Given the description of an element on the screen output the (x, y) to click on. 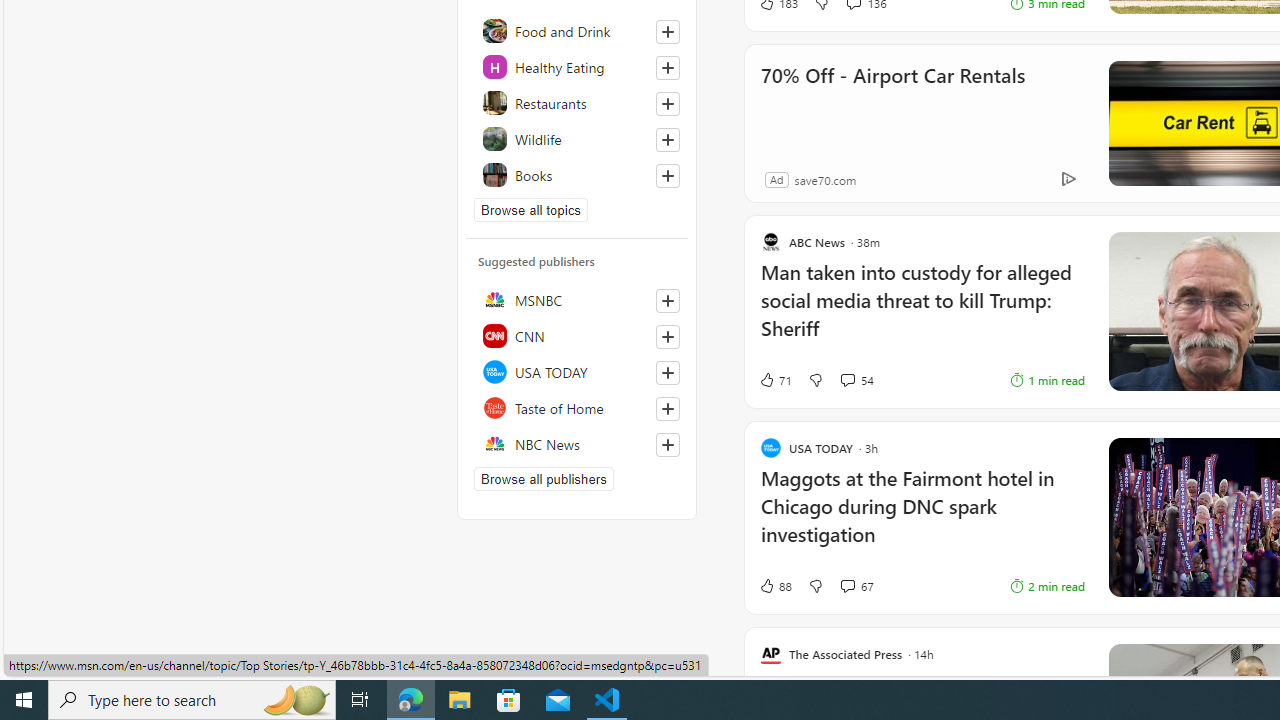
View comments 67 Comment (855, 585)
Browse all publishers (543, 479)
NBC News (577, 443)
71 Like (775, 379)
View comments 54 Comment (855, 379)
Books (577, 174)
save70.com (824, 179)
View comments 67 Comment (847, 586)
